Given the description of an element on the screen output the (x, y) to click on. 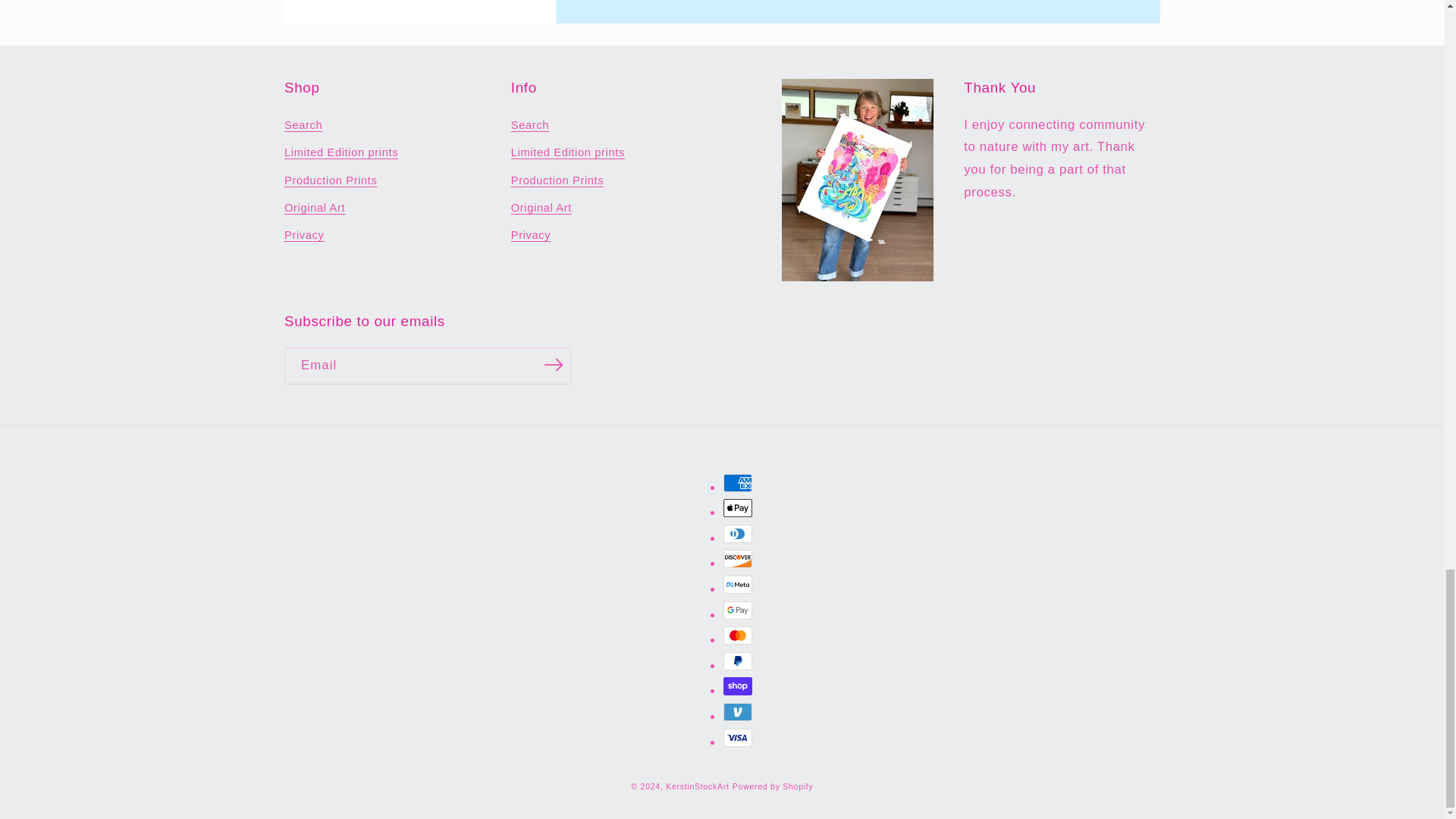
Apple Pay (737, 507)
Google Pay (737, 610)
Production Prints (330, 180)
Search (302, 127)
Diners Club (737, 533)
Visa (737, 737)
PayPal (737, 660)
Meta Pay (737, 584)
American Express (737, 483)
Shop Pay (737, 686)
